Given the description of an element on the screen output the (x, y) to click on. 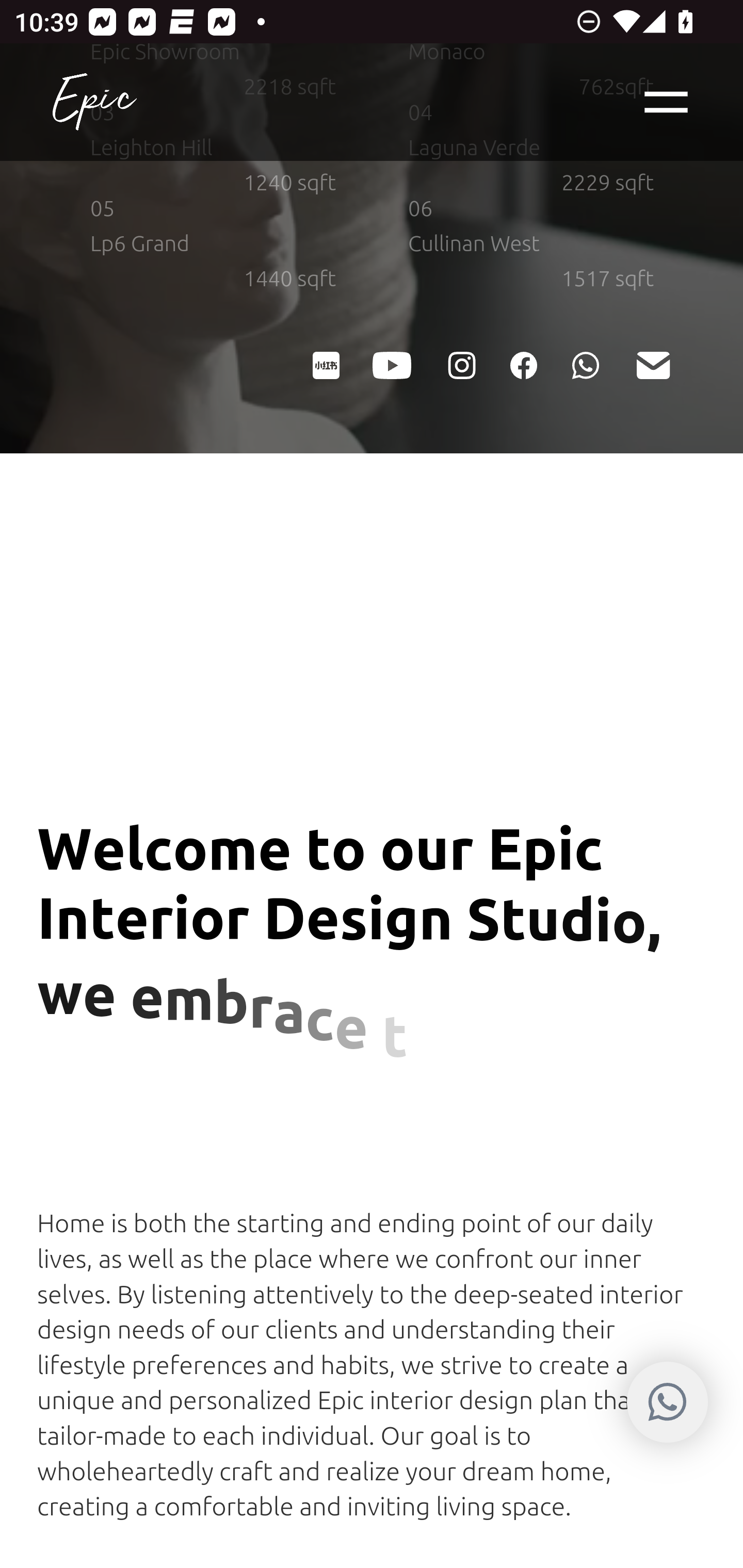
en (94, 103)
menu (666, 103)
5abbc35ee8ac2b3e07aaf880 (325, 365)
@_epicinterior593 (392, 365)
epicinteriordesignltd (460, 365)
profile (523, 365)
85297019887 (585, 365)
mailto:info@epicinterior (652, 365)
85297019887 (666, 1403)
